Given the description of an element on the screen output the (x, y) to click on. 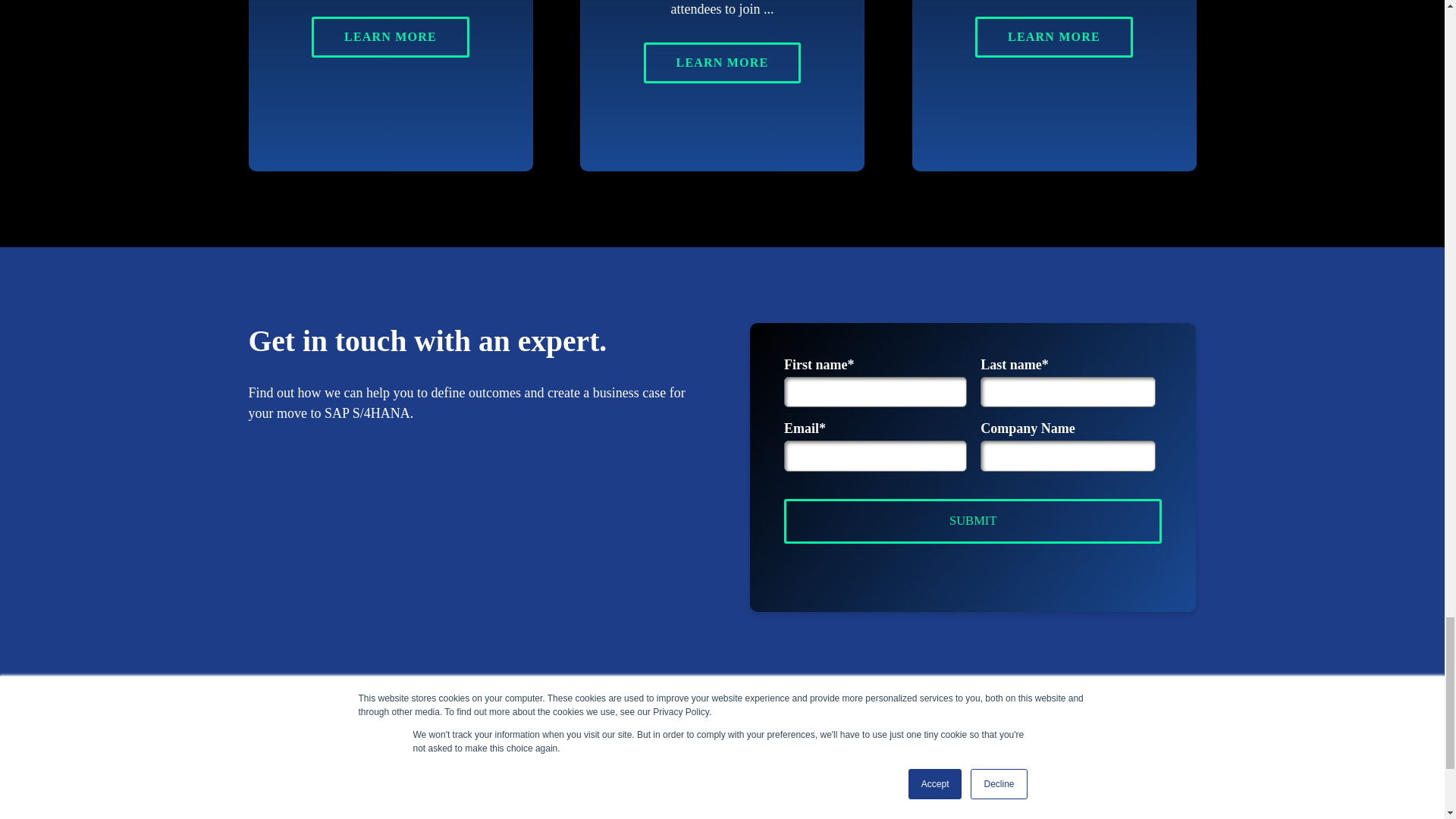
Submit (972, 520)
invenioLSI-col-monochrome (293, 783)
